Given the description of an element on the screen output the (x, y) to click on. 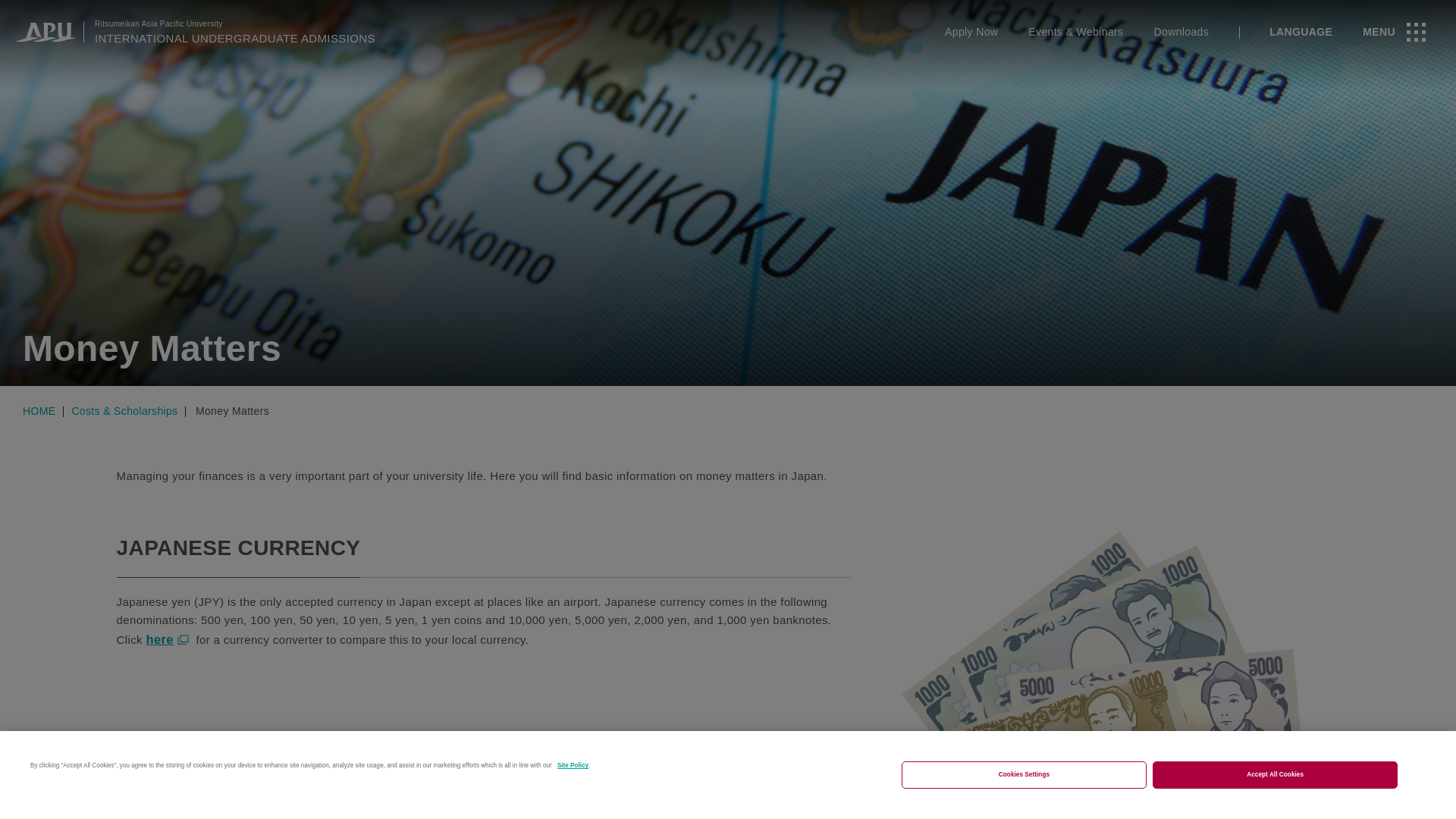
here (168, 639)
Apply Now (971, 31)
Downloads (1180, 31)
HOME (38, 410)
